Given the description of an element on the screen output the (x, y) to click on. 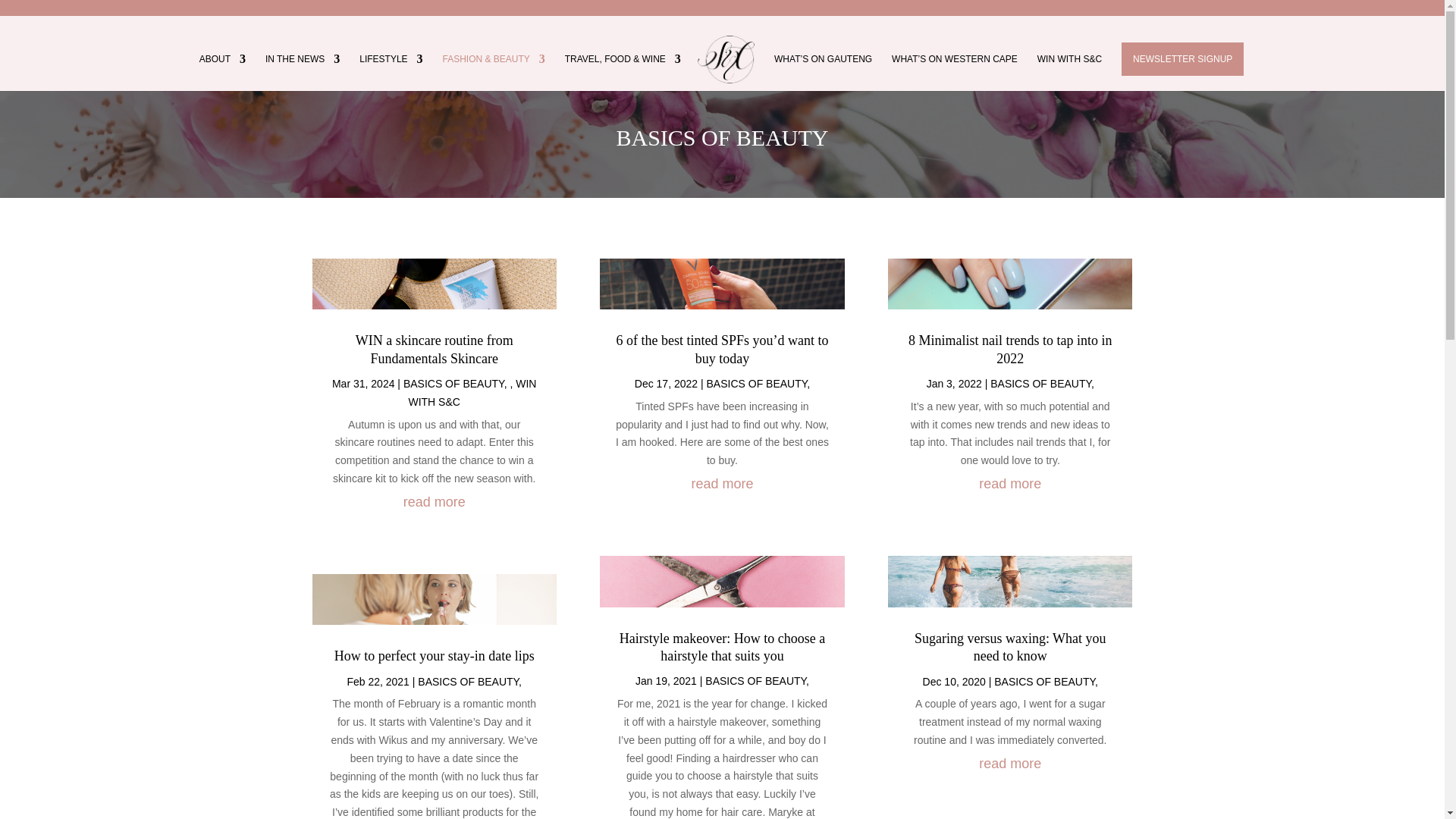
IN THE NEWS (301, 72)
LIFESTYLE (390, 72)
ABOUT (222, 72)
